Given the description of an element on the screen output the (x, y) to click on. 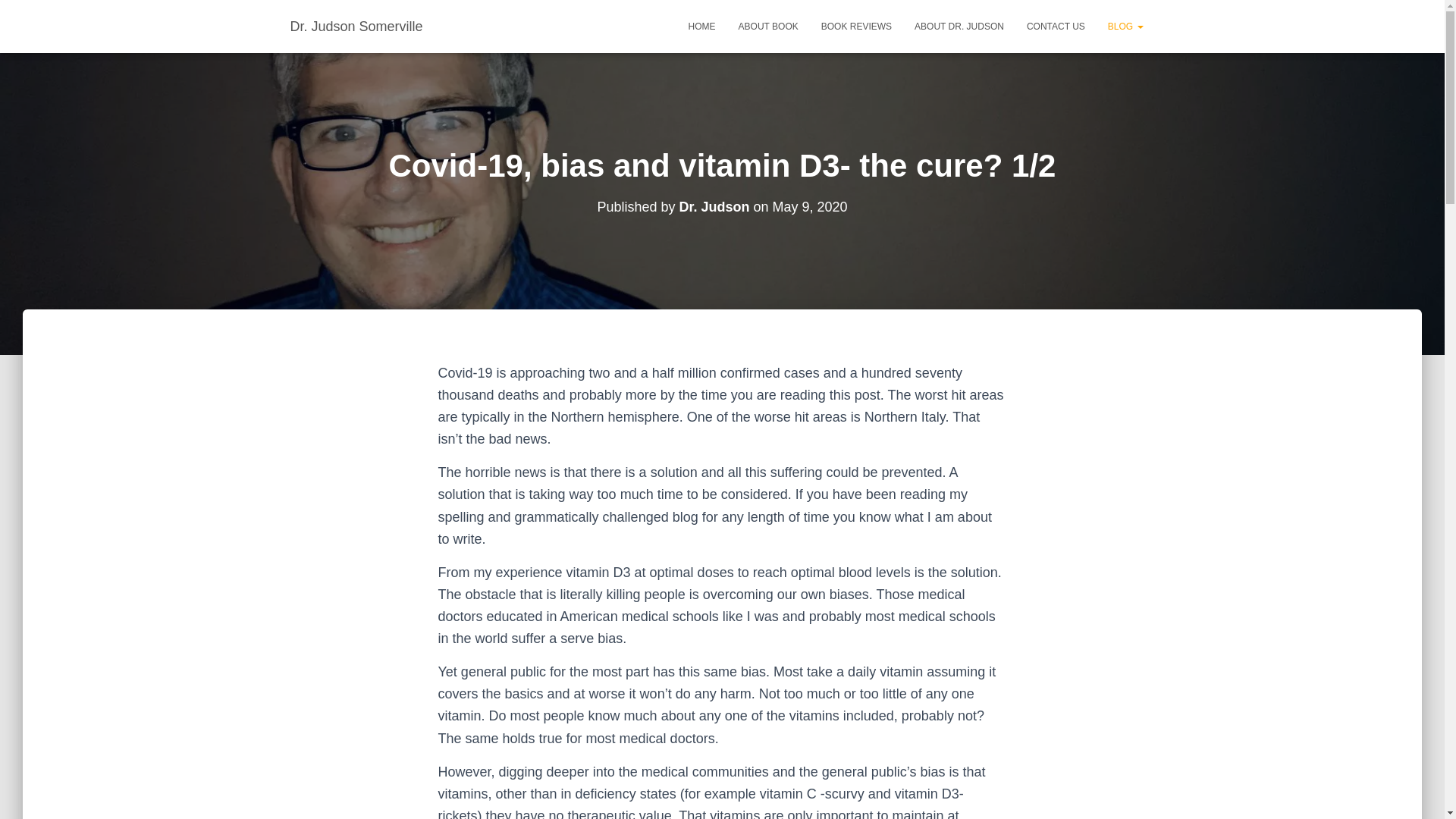
HOME (701, 26)
BLOG (1125, 26)
Dr. Judson Somerville (356, 26)
ABOUT BOOK (767, 26)
About Dr. Judson (958, 26)
About book (767, 26)
CONTACT US (1055, 26)
Contact us (1055, 26)
Dr. Judson Somerville (356, 26)
ABOUT DR. JUDSON (958, 26)
Home (701, 26)
BOOK REVIEWS (855, 26)
Dr. Judson (713, 206)
Blog (1125, 26)
Book reviews (855, 26)
